Given the description of an element on the screen output the (x, y) to click on. 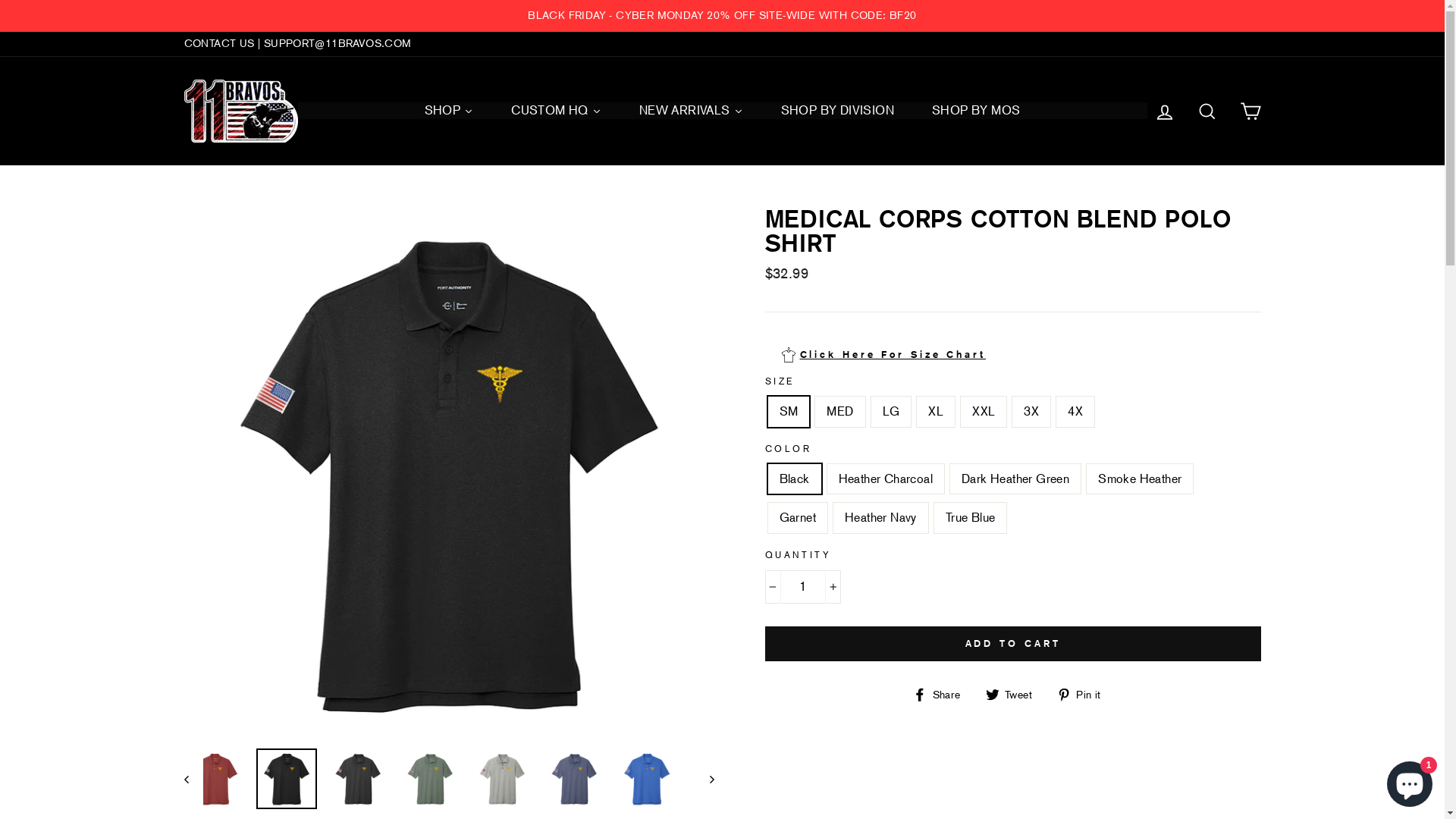
LOG IN Element type: text (1164, 111)
SHOP BY DIVISION Element type: text (837, 110)
Click Here For Size Chart Element type: text (882, 354)
Next Element type: text (703, 777)
CART Element type: text (1249, 111)
ADD TO CART Element type: text (1012, 643)
Pin it
Pin on Pinterest Element type: text (1084, 693)
SEARCH Element type: text (1206, 111)
SHOP BY MOS Element type: text (975, 110)
Skip to content Element type: text (0, 0)
SHOP Element type: text (448, 110)
CONTACT US | SUPPORT@11BRAVOS.COM Element type: text (296, 43)
NEW ARRIVALS Element type: text (691, 110)
CUSTOM HQ Element type: text (556, 110)
Tweet
Tweet on Twitter Element type: text (1014, 693)
Share
Share on Facebook Element type: text (942, 693)
Previous Element type: text (192, 777)
+ Element type: text (832, 586)
Shopify online store chat Element type: hover (1409, 780)
